Given the description of an element on the screen output the (x, y) to click on. 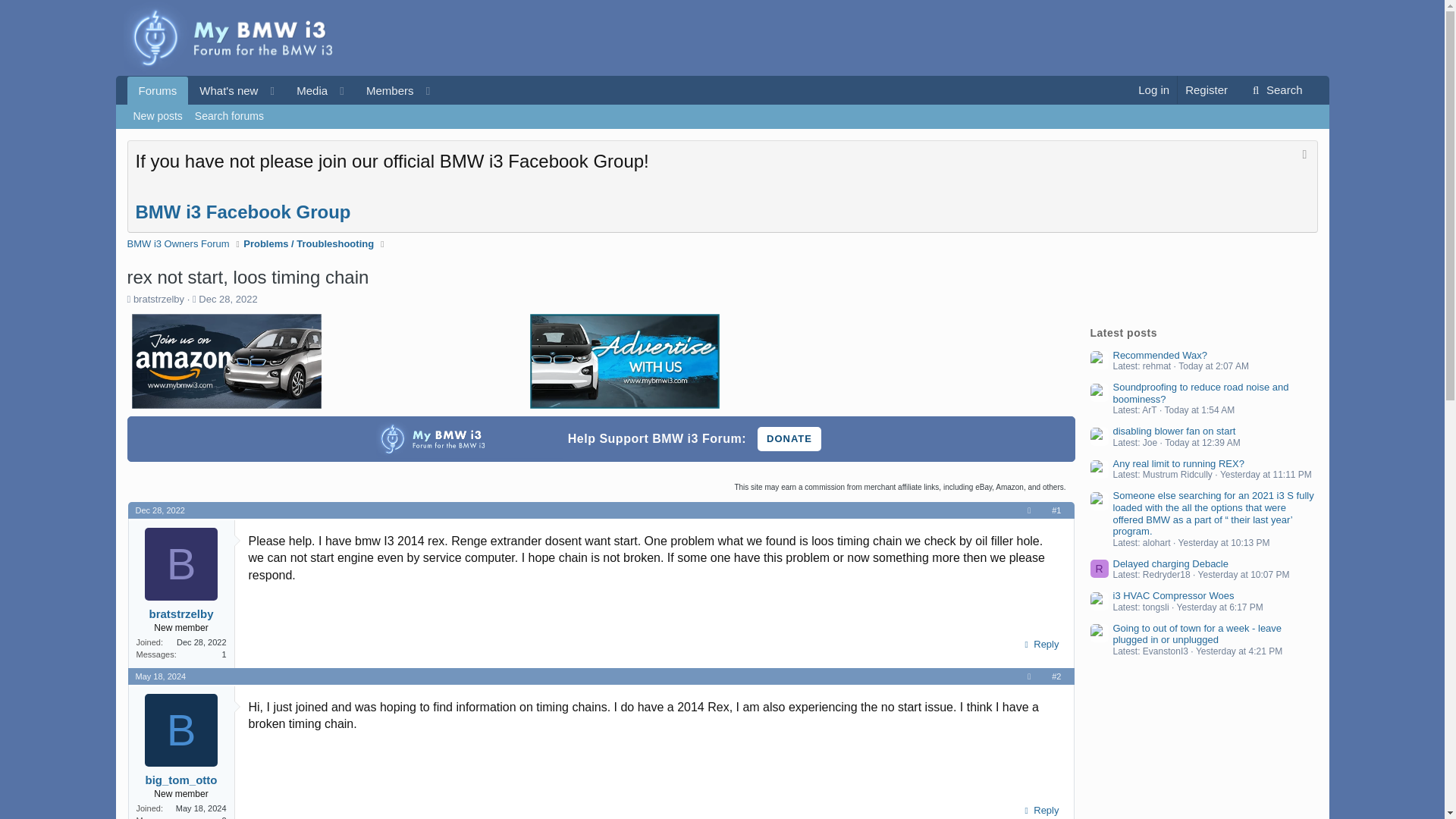
Search forums (229, 116)
Reply, quoting this message (1039, 644)
Dec 28, 2022 at 3:05 PM (227, 298)
Media (288, 90)
Search (307, 90)
Dec 28, 2022 at 3:05 PM (1275, 90)
BMW i3 Owners Forum (722, 116)
PayPal - The safer, easier way to pay online! (159, 510)
BMW i3 Facebook Group (179, 243)
New posts (789, 438)
Donate (242, 211)
May 18, 2024 at 2:50 PM (158, 116)
Reply, quoting this message (789, 438)
